Given the description of an element on the screen output the (x, y) to click on. 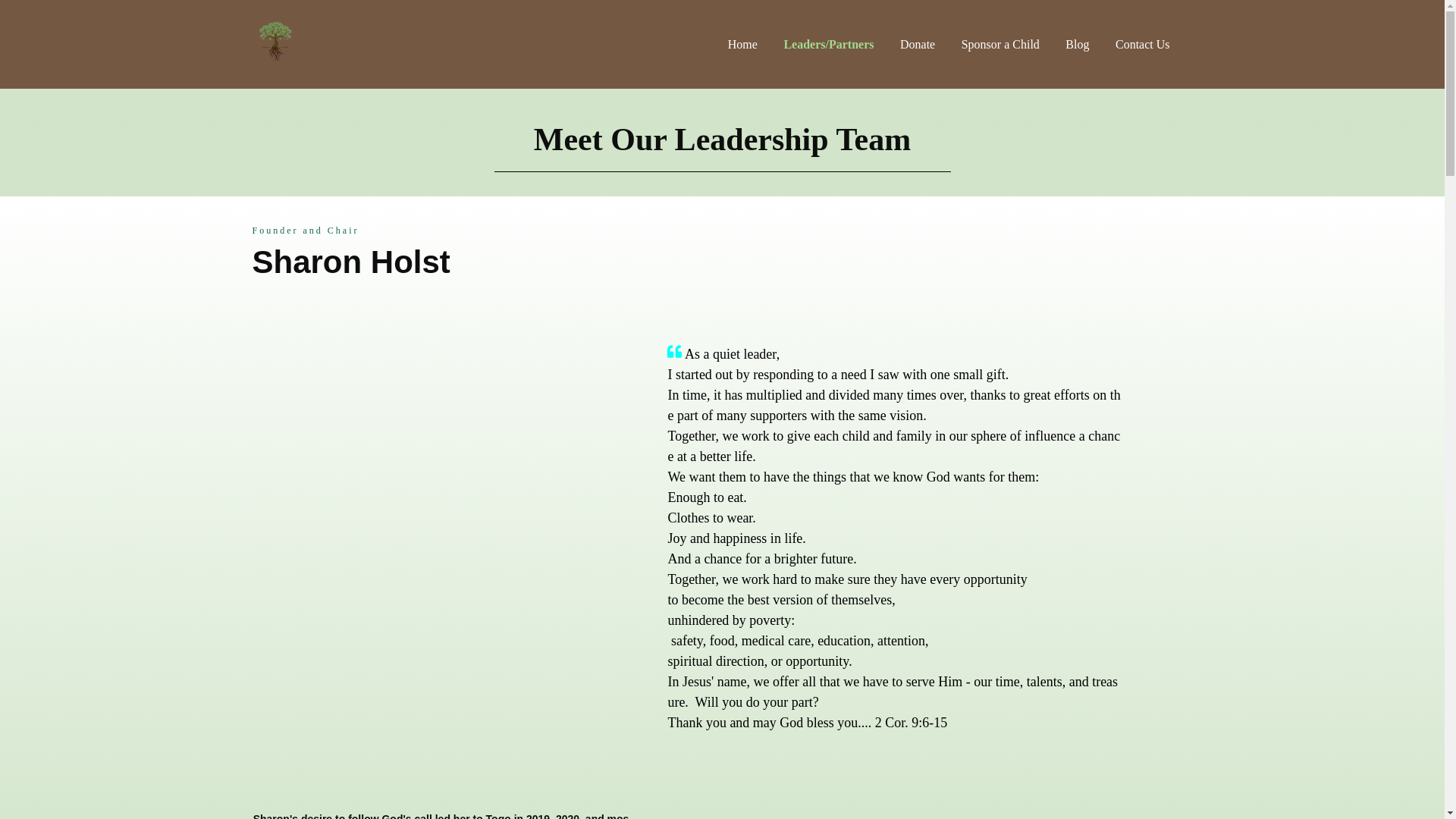
Sponsor a Child (999, 44)
Contact Us (1142, 44)
Donate (916, 44)
Home (742, 44)
Blog (1077, 44)
whyTogo-image6-removebg-preview (274, 41)
